Given the description of an element on the screen output the (x, y) to click on. 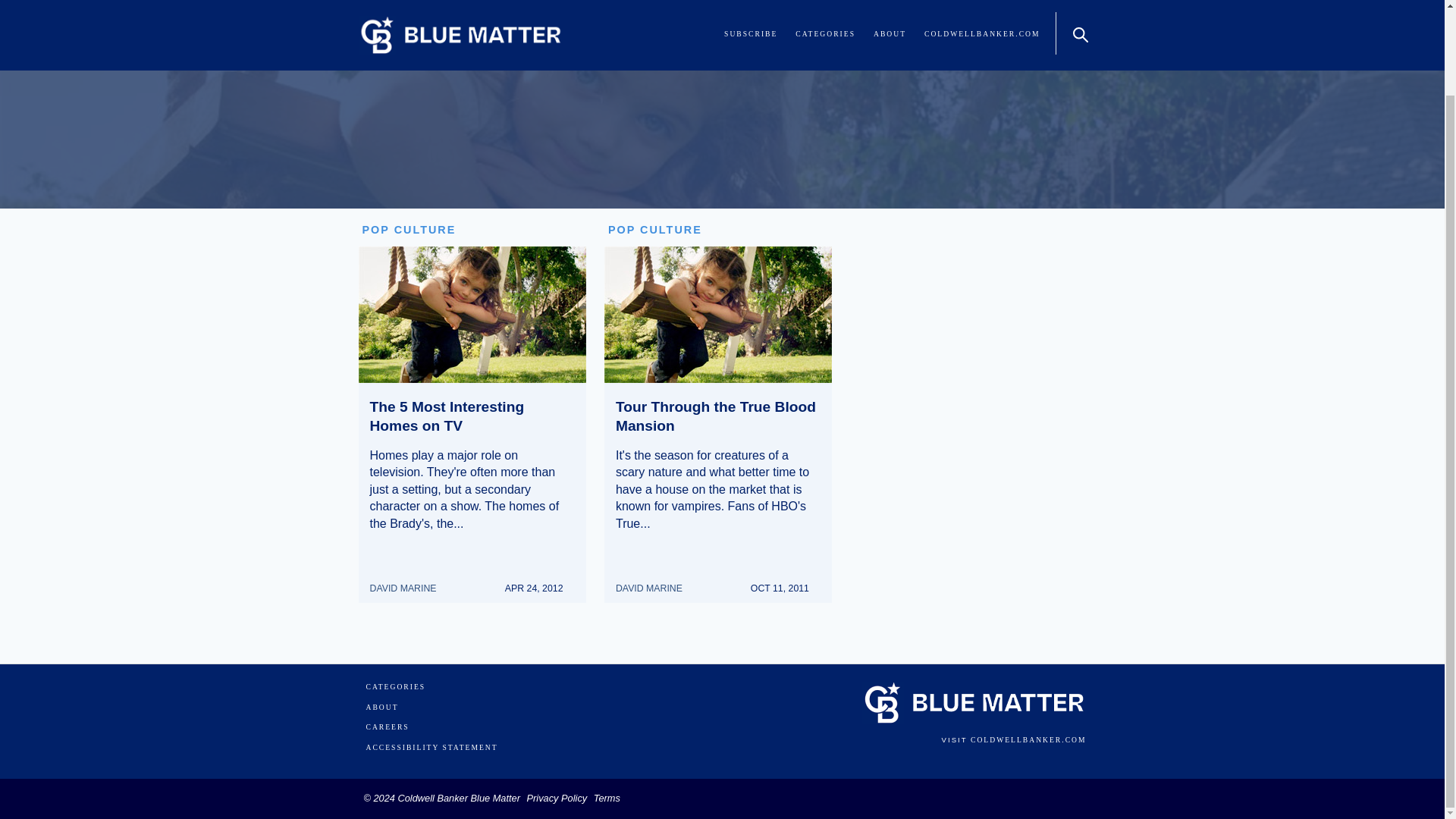
CAREERS (387, 727)
DAVID MARINE (654, 581)
The 5 Most Interesting Homes on TV (446, 416)
POP CULTURE (409, 229)
ACCESSIBILITY STATEMENT (431, 747)
Tour Through the True Blood Mansion (715, 416)
DAVID MARINE (408, 581)
COLDWELLBANKER.COM (1028, 739)
Privacy Policy (557, 797)
Coldwell Banker Blue Matter (458, 797)
Terms (607, 797)
Posts by David Marine (408, 581)
ABOUT (381, 707)
CATEGORIES (395, 687)
POP CULTURE (654, 229)
